Given the description of an element on the screen output the (x, y) to click on. 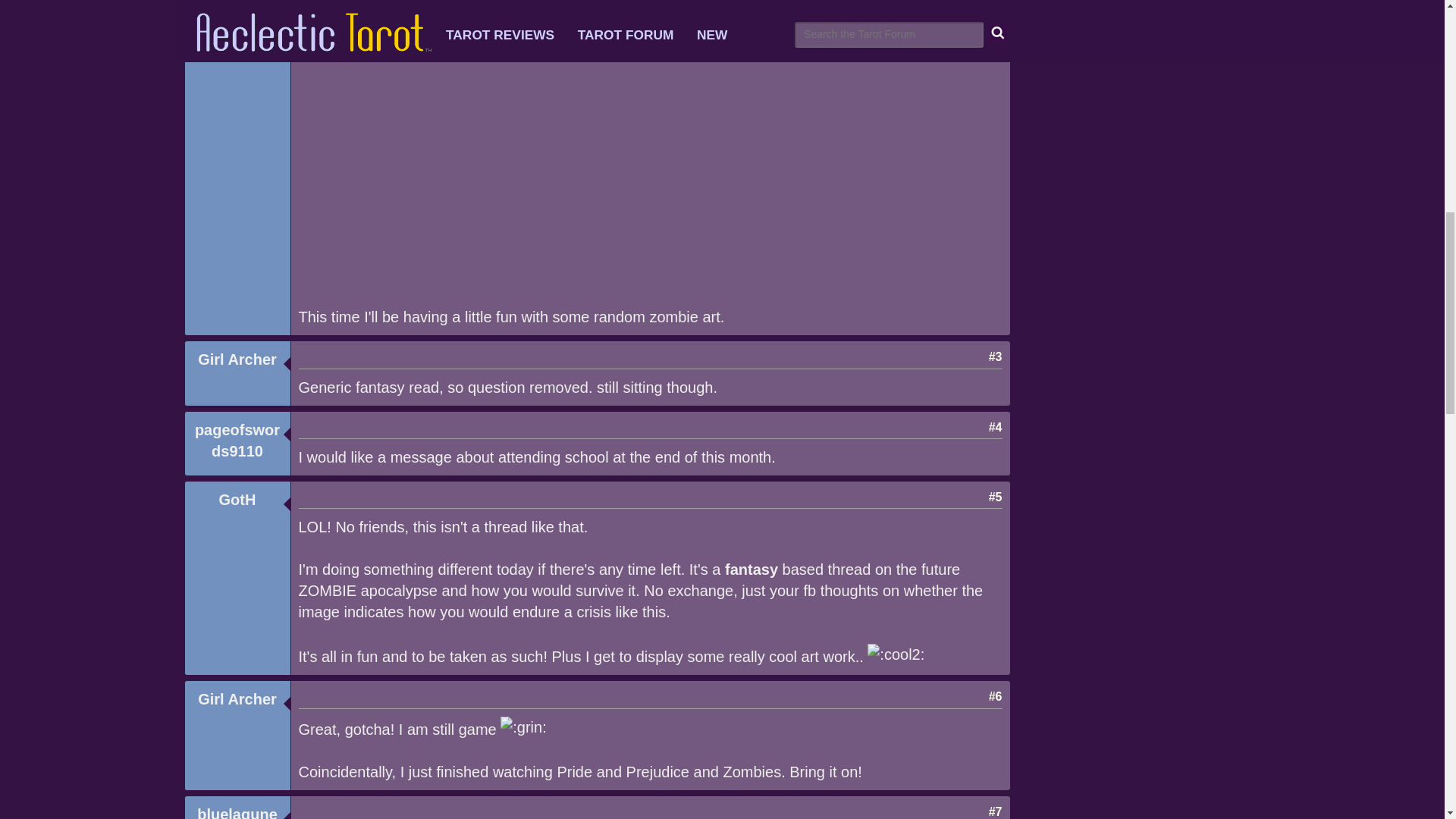
Emote: Grin    :grin: (523, 726)
Emote: Cool 2    :cool2: (895, 654)
